Given the description of an element on the screen output the (x, y) to click on. 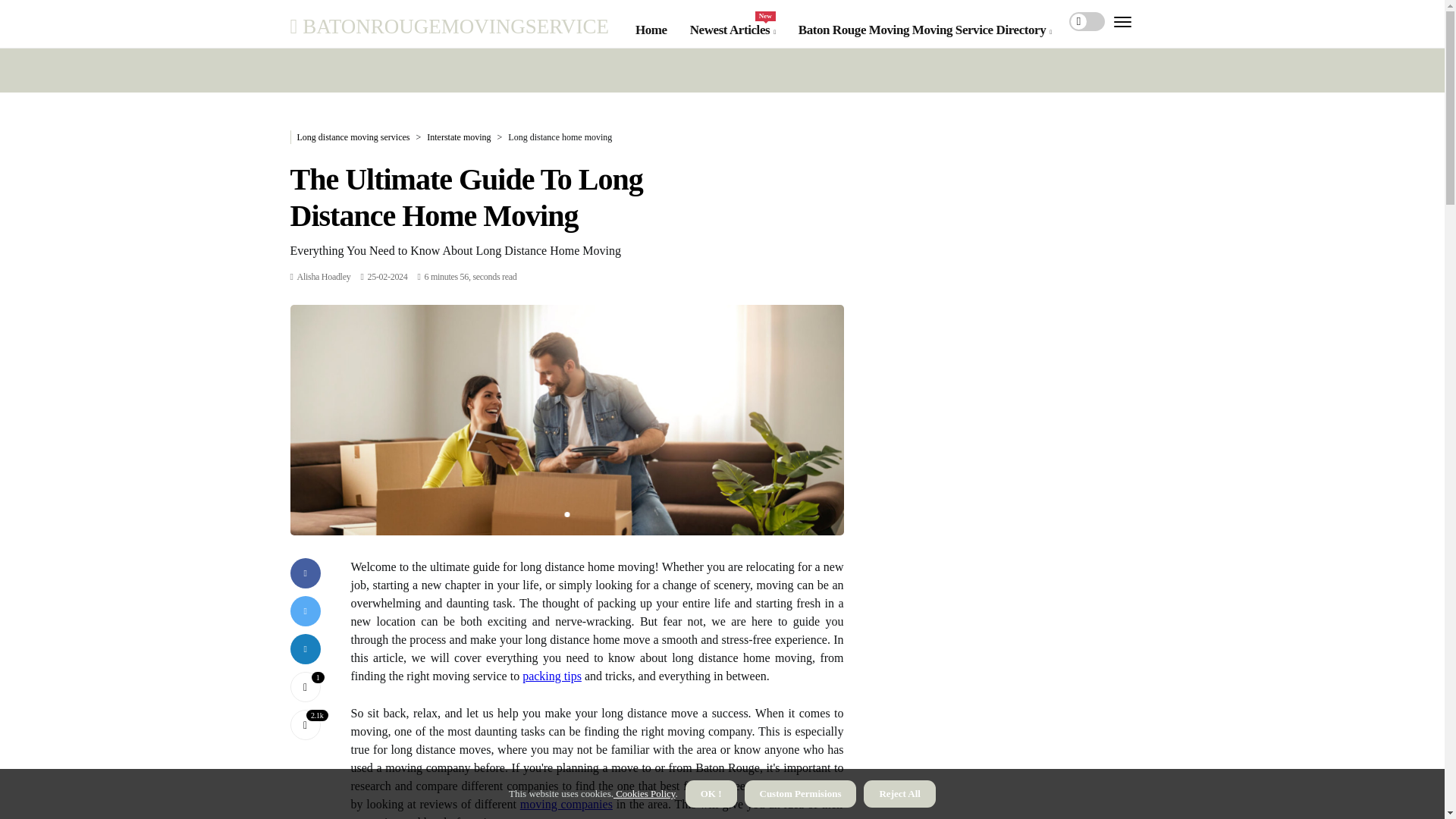
BATONROUGEMOVINGSERVICE (448, 26)
Baton Rouge Moving Moving Service Directory (924, 30)
Like (304, 686)
Posts by Alisha Hoadley (733, 30)
